Given the description of an element on the screen output the (x, y) to click on. 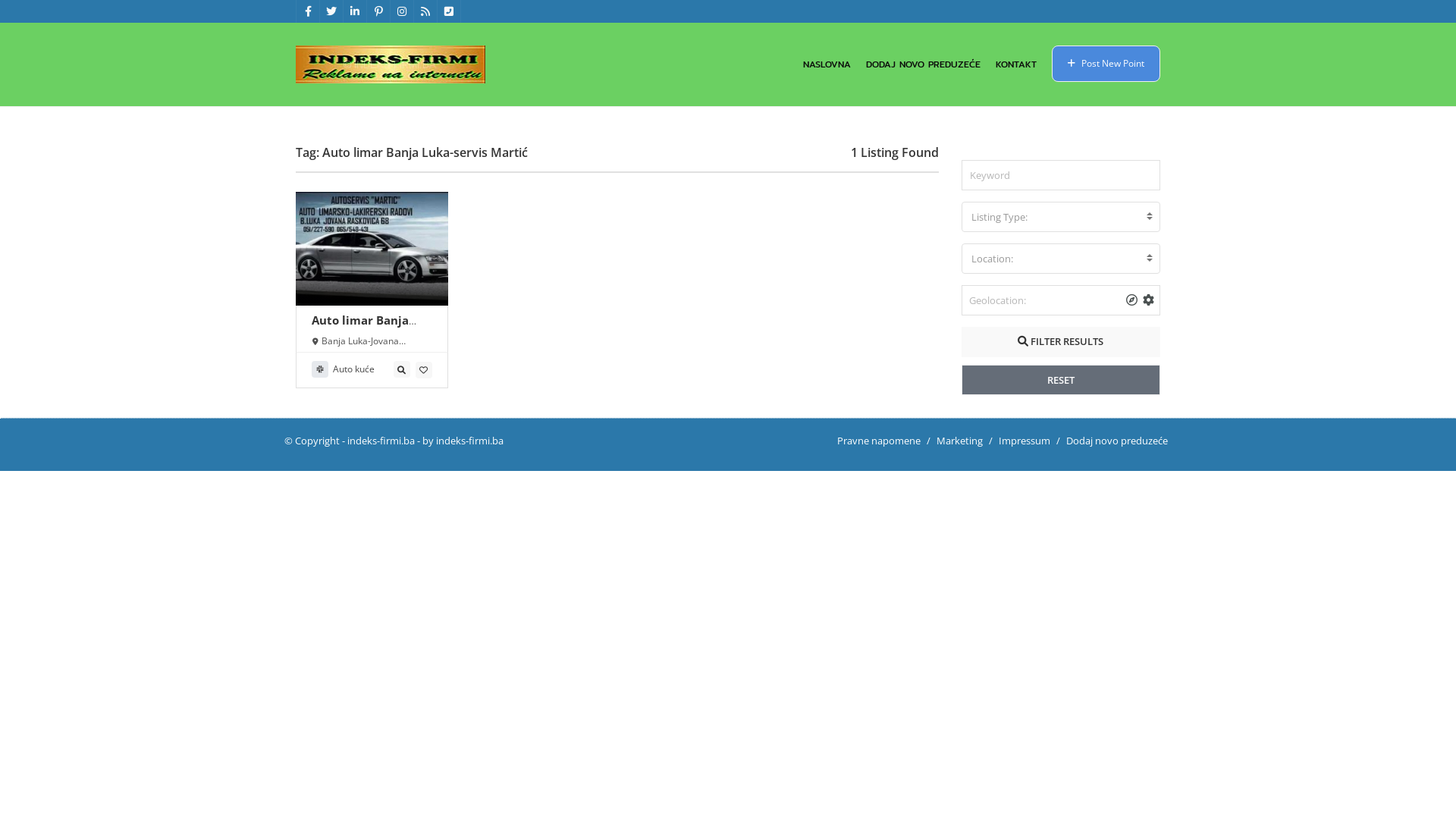
Pravne napomene Element type: text (878, 440)
NASLOVNA Element type: text (826, 64)
Impressum Element type: text (1024, 440)
Marketing Element type: text (959, 440)
Post New Point Element type: text (1105, 63)
FILTER RESULTS Element type: text (1061, 341)
KONTAKT Element type: text (1015, 64)
by indeks-firmi.ba Element type: text (462, 440)
indeks-firmi.ba Element type: text (380, 440)
RESET Element type: text (1061, 379)
